Given the description of an element on the screen output the (x, y) to click on. 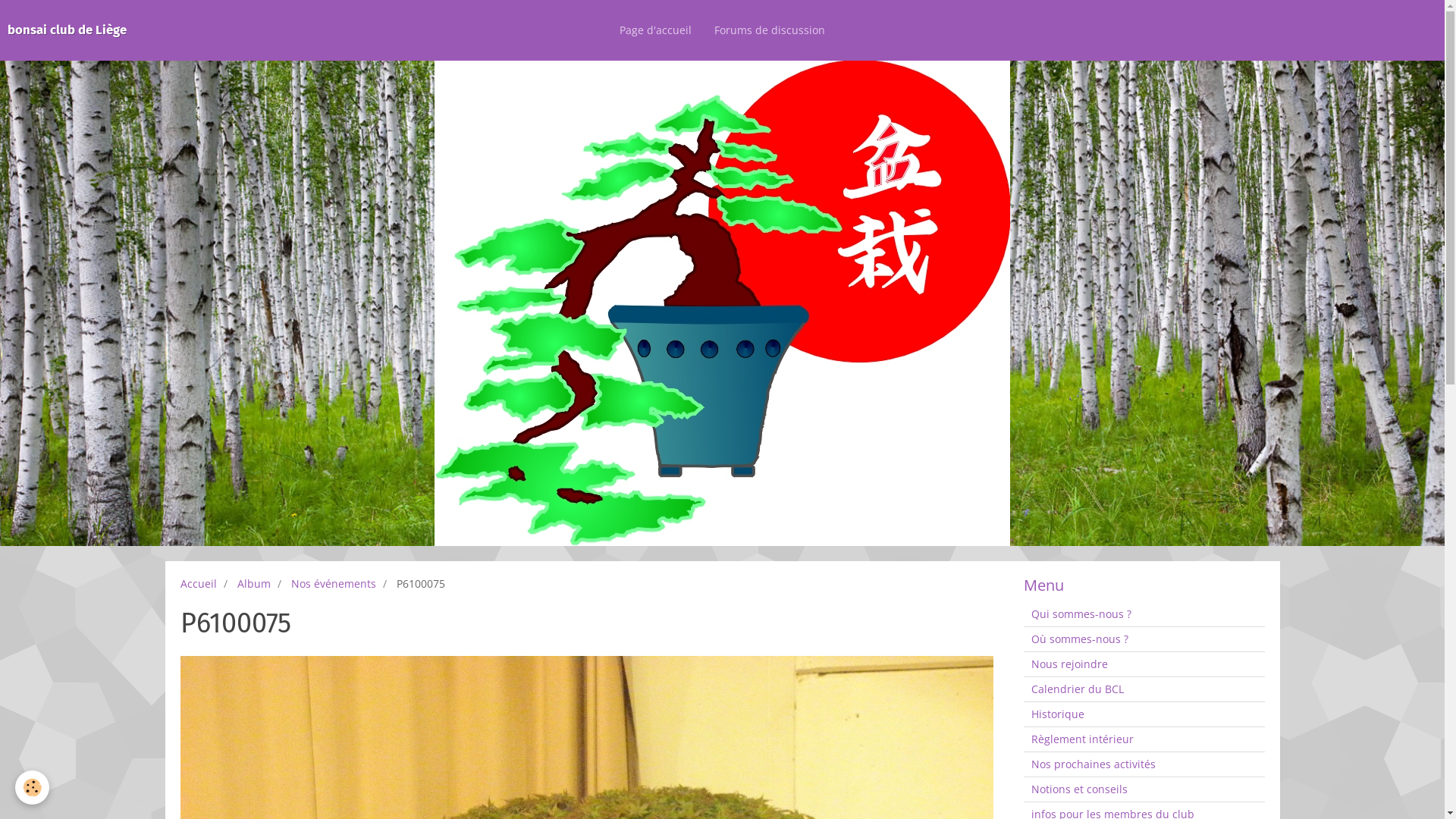
Page d'accueil Element type: text (655, 30)
Notions et conseils Element type: text (1143, 789)
Historique Element type: text (1143, 714)
Album Element type: text (252, 583)
Calendrier du BCL Element type: text (1143, 689)
Accueil Element type: text (198, 583)
Qui sommes-nous ? Element type: text (1143, 614)
Nous rejoindre Element type: text (1143, 664)
Forums de discussion Element type: text (769, 30)
